Given the description of an element on the screen output the (x, y) to click on. 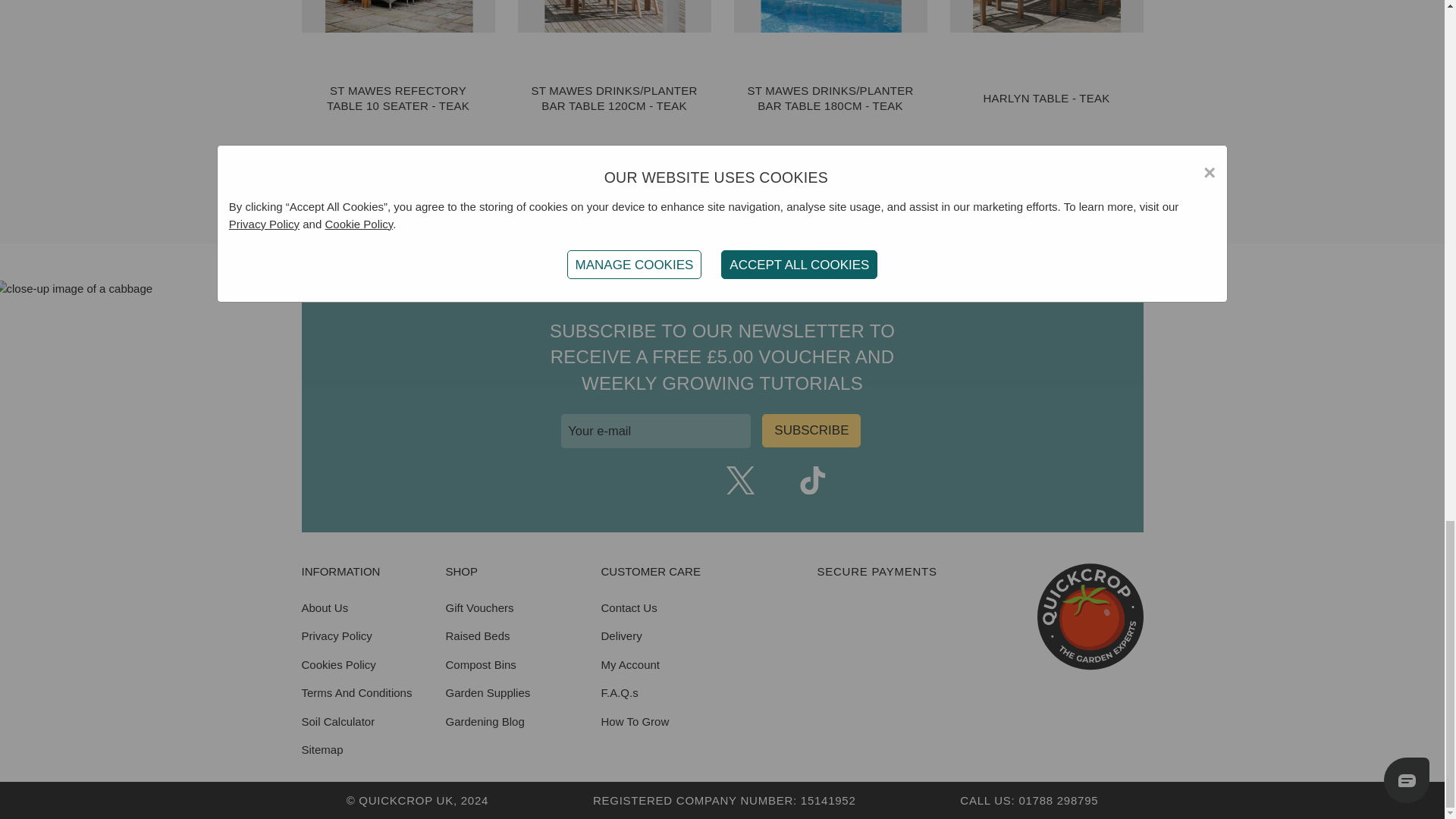
St Mawes drinks and planter table (830, 16)
weatherproof Teak dining table (1045, 16)
Subscribe (810, 430)
St Mawes Teak Refectory Table (398, 16)
St Mawes outdoor Drinks and Planter Table (613, 16)
